Given the description of an element on the screen output the (x, y) to click on. 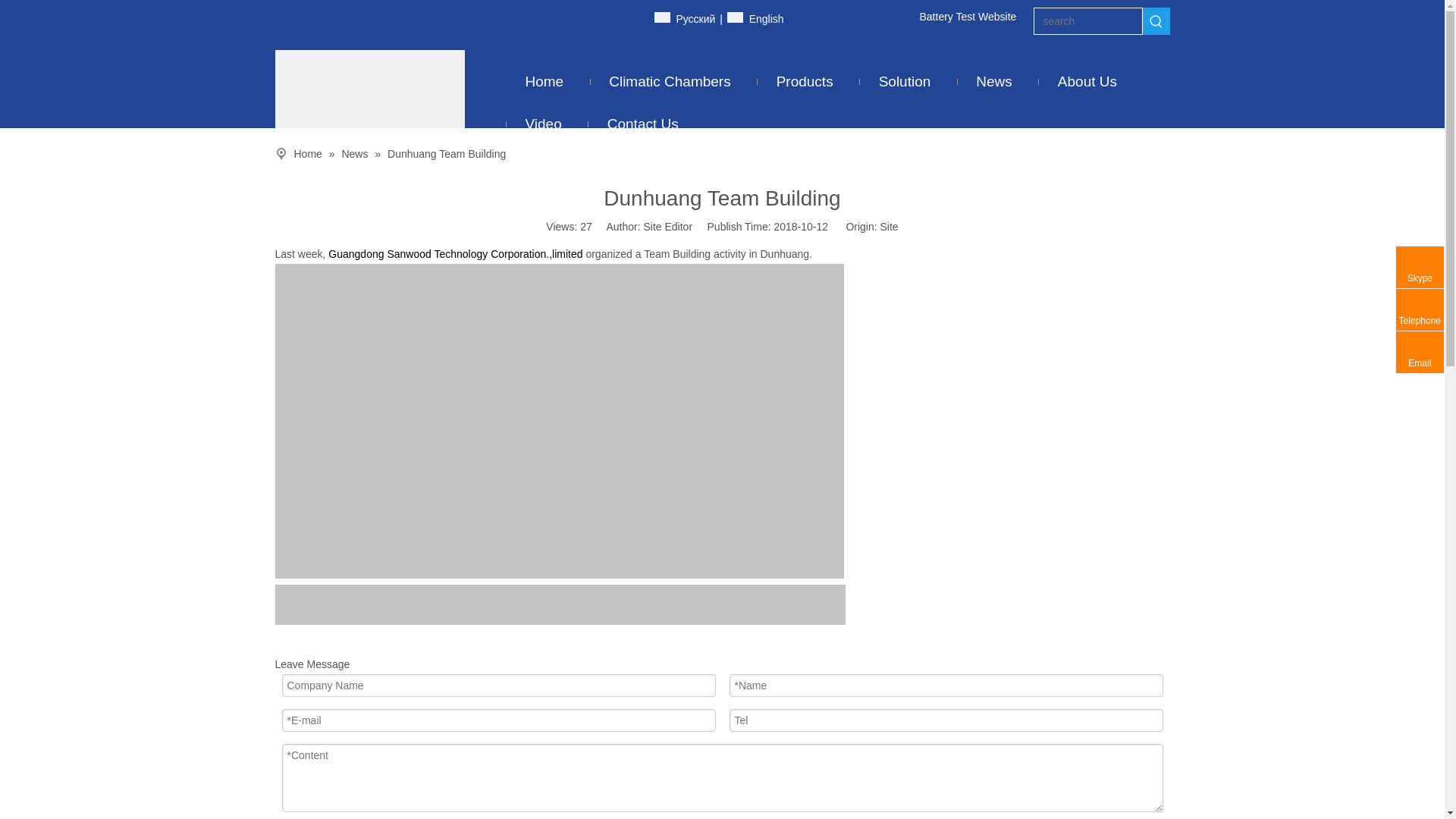
Home Element type: text (544, 81)
Solution Element type: text (904, 81)
About Us Element type: text (1087, 81)
Youtube Element type: hover (627, 18)
Battery Test Website Element type: text (967, 16)
Site Element type: text (889, 226)
Skype Element type: text (1419, 266)
Guangdong Sanwood Technology Corporation.,limited Element type: text (455, 253)
Linkedin Element type: hover (605, 18)
Products Element type: text (804, 81)
Telephone Element type: text (1419, 309)
Contact Us Element type: text (642, 124)
English Element type: text (755, 18)
Climatic Chambers Element type: text (669, 81)
Facebook Element type: hover (581, 18)
Home Element type: text (309, 153)
News Element type: text (994, 81)
Email Element type: text (1419, 351)
News Element type: text (355, 153)
Video Element type: text (542, 124)
